Given the description of an element on the screen output the (x, y) to click on. 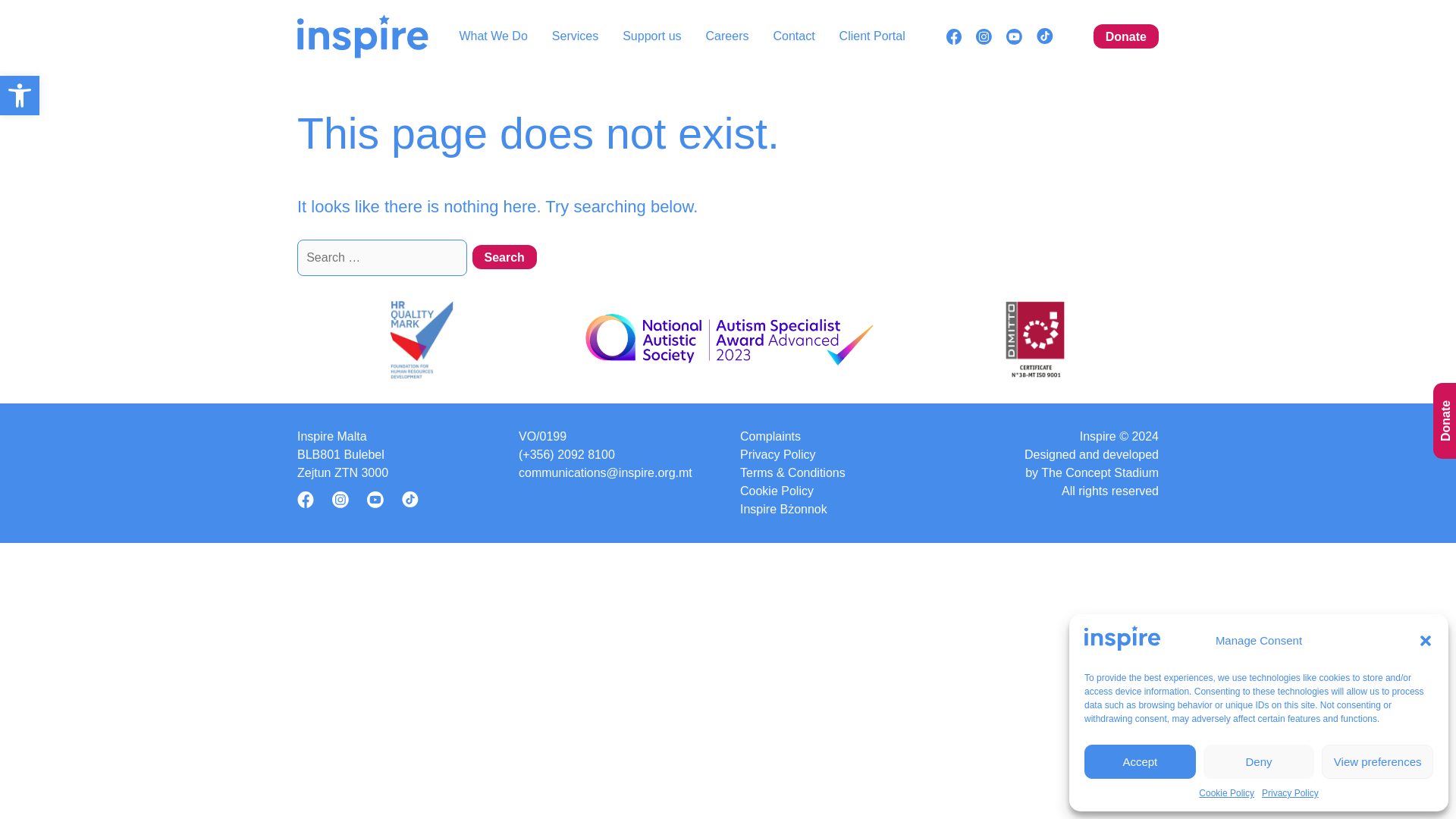
What We Do (492, 36)
Accessibility Tools (19, 95)
Services (19, 95)
Search (574, 36)
Support us (503, 256)
Search (652, 36)
Accessibility Tools (503, 256)
